Given the description of an element on the screen output the (x, y) to click on. 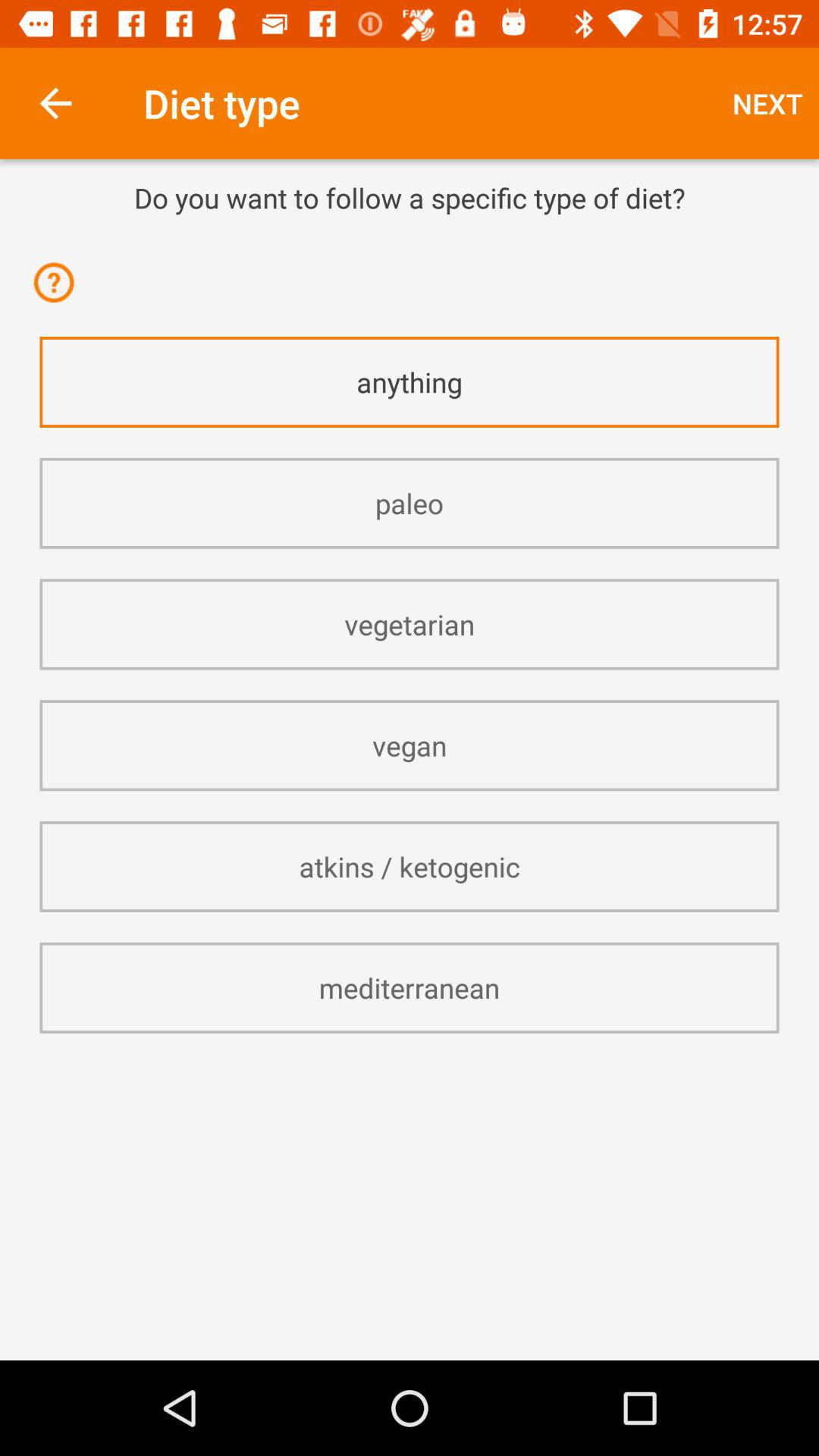
press item to the left of the diet type item (55, 103)
